Given the description of an element on the screen output the (x, y) to click on. 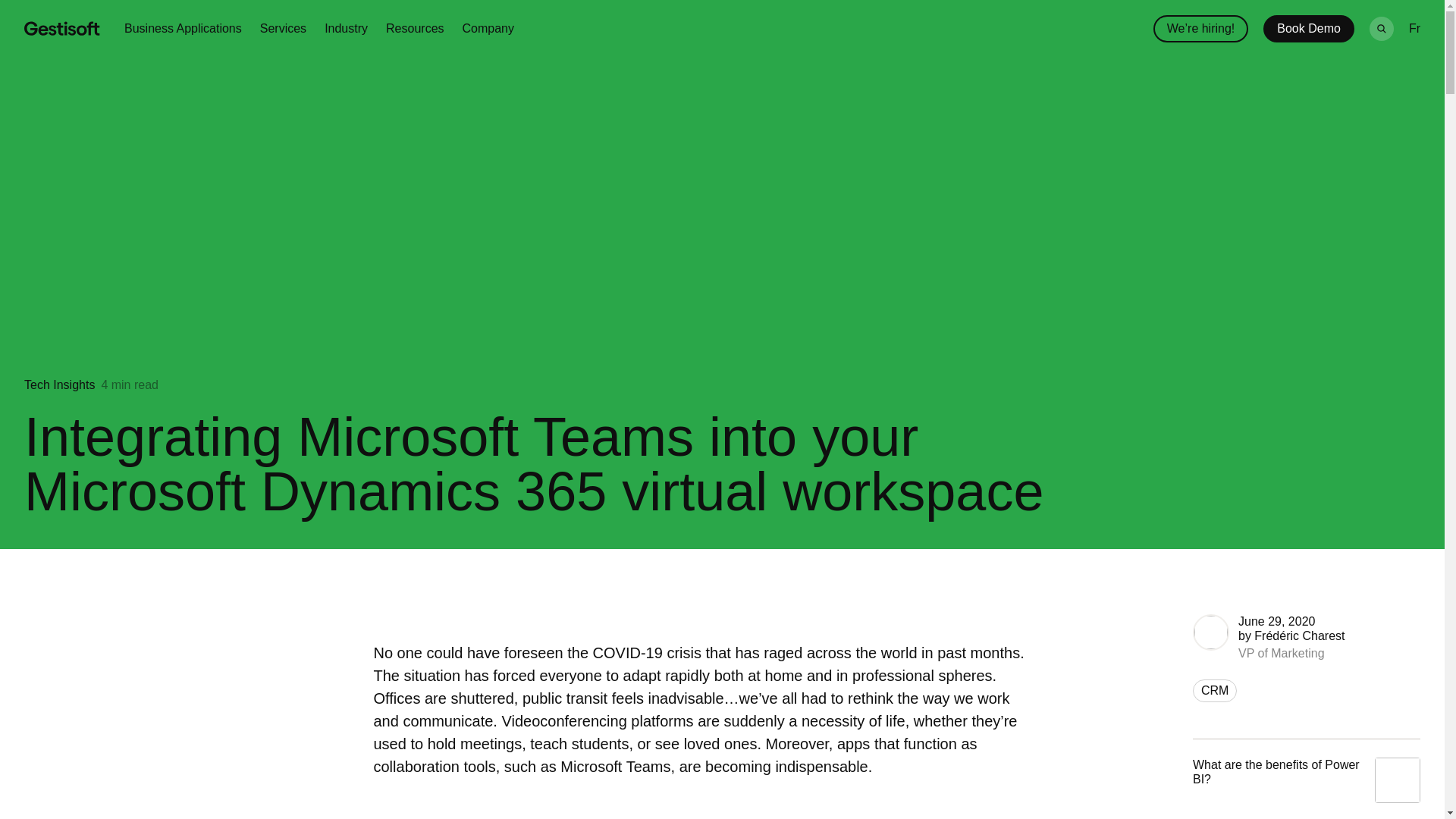
Book Demo (1308, 28)
Company (488, 28)
Resources (414, 28)
What are the benefits of Power BI? (1306, 770)
Industry (346, 28)
Services (282, 28)
Fr (1415, 28)
CRM (1214, 690)
Business Applications (182, 28)
